Given the description of an element on the screen output the (x, y) to click on. 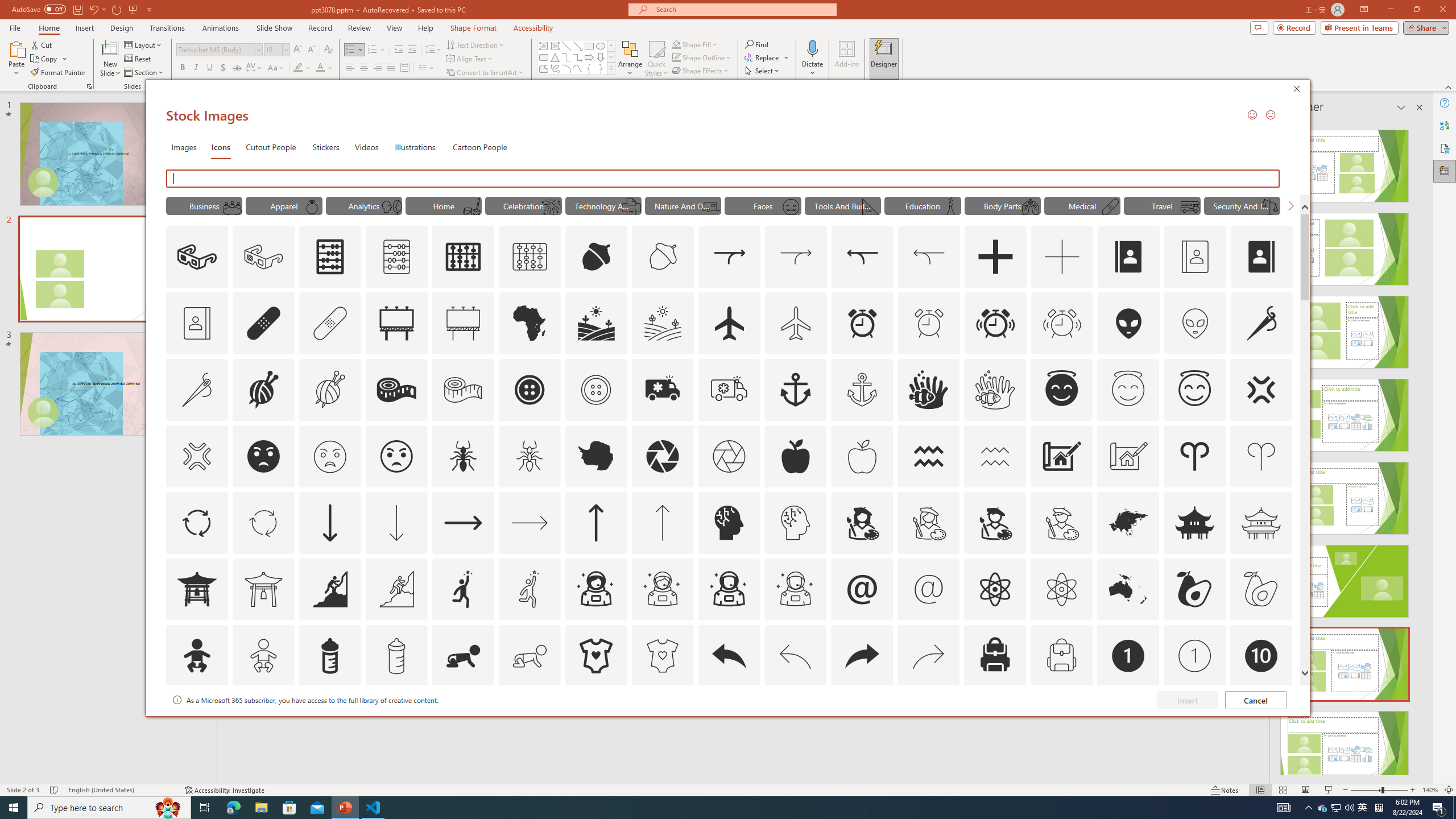
Underline (209, 67)
"Education" Icons. (921, 205)
AutomationID: Icons_BabyOnesie (595, 655)
Arrange (630, 58)
AutomationID: Icons_Apple (795, 455)
AutomationID: Icons_Aspiration1 (462, 588)
AutomationID: Icons_Backpack_M (1061, 655)
AutomationID: Icons_AngelFace (1061, 389)
